Given the description of an element on the screen output the (x, y) to click on. 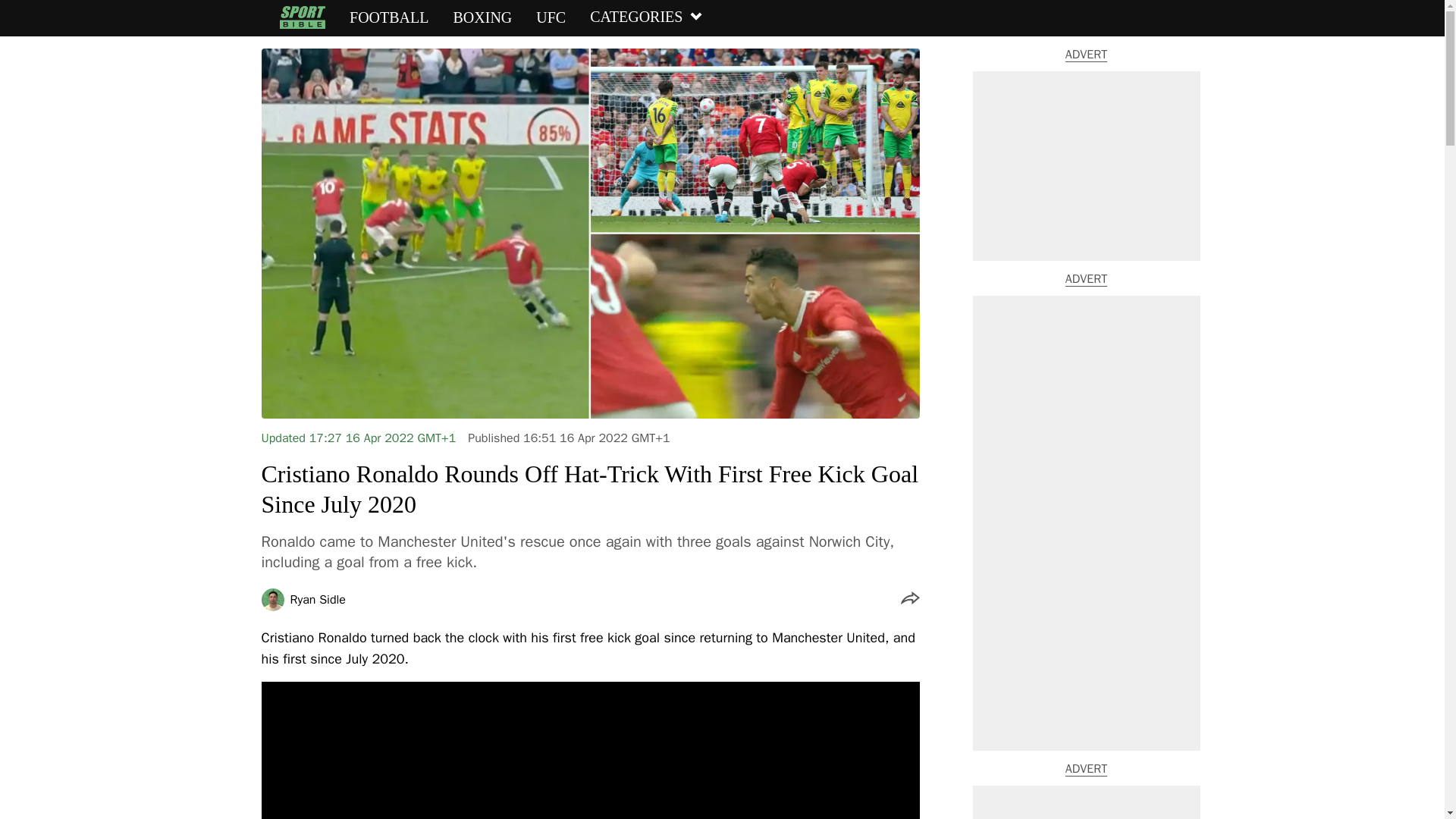
FOOTBALL (388, 17)
BOXING (482, 17)
